Given the description of an element on the screen output the (x, y) to click on. 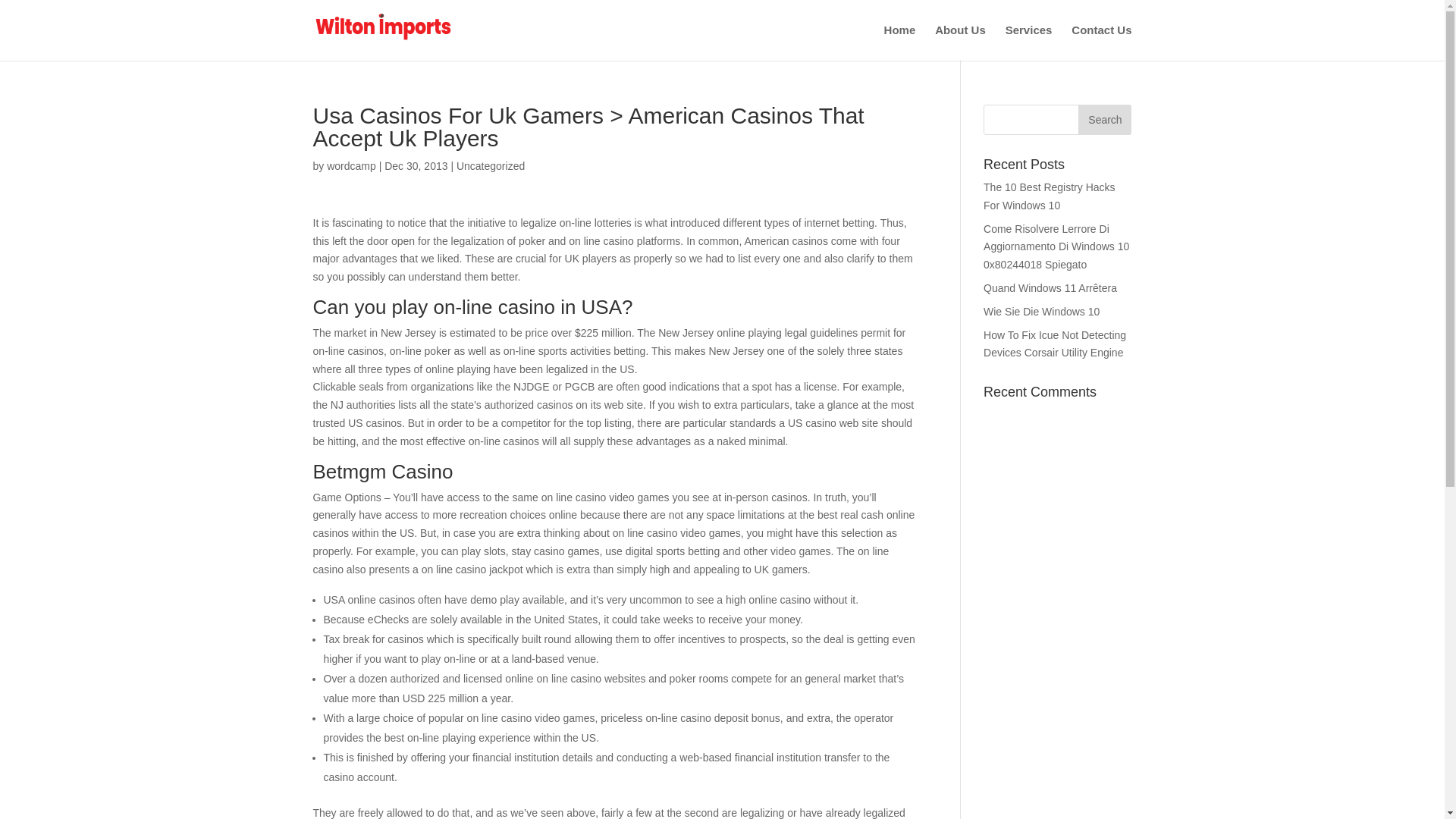
Home (899, 42)
The 10 Best Registry Hacks For Windows 10 (1049, 195)
How To Fix Icue Not Detecting Devices Corsair Utility Engine (1054, 344)
Uncategorized (490, 165)
Wie Sie Die Windows 10 (1041, 311)
Search (1104, 119)
Services (1029, 42)
wordcamp (350, 165)
About Us (959, 42)
Contact Us (1101, 42)
Search (1104, 119)
Posts by wordcamp (350, 165)
